Given the description of an element on the screen output the (x, y) to click on. 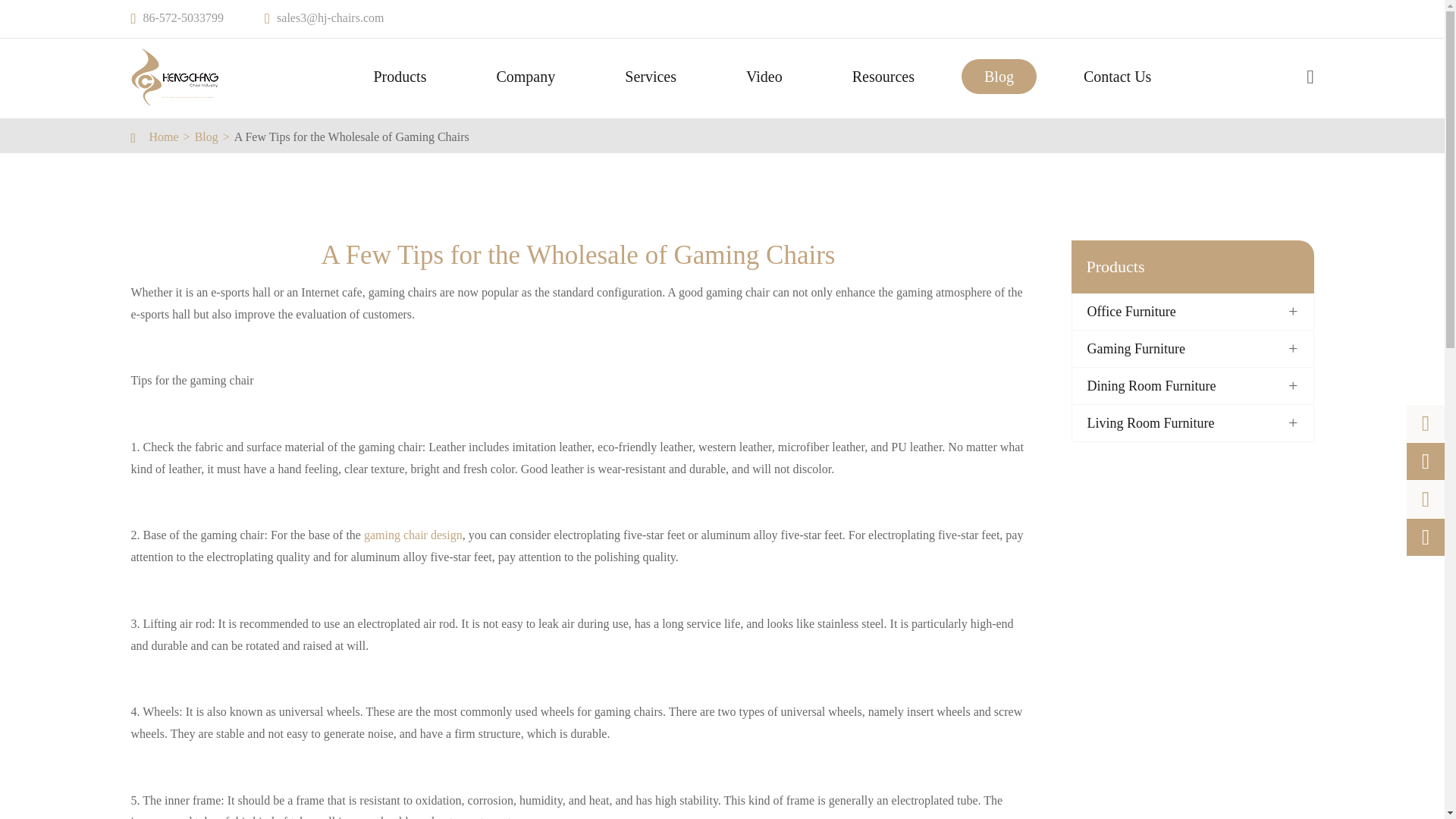
Company (525, 76)
Services (650, 76)
A Few Tips for the Wholesale of Gaming Chairs (351, 136)
Resources (883, 76)
Video (764, 76)
Zhejiang Anji Hengchang Chair Industry Co., Ltd. (173, 77)
Blog (206, 136)
86-572-5033799 (183, 17)
Products (399, 76)
